Given the description of an element on the screen output the (x, y) to click on. 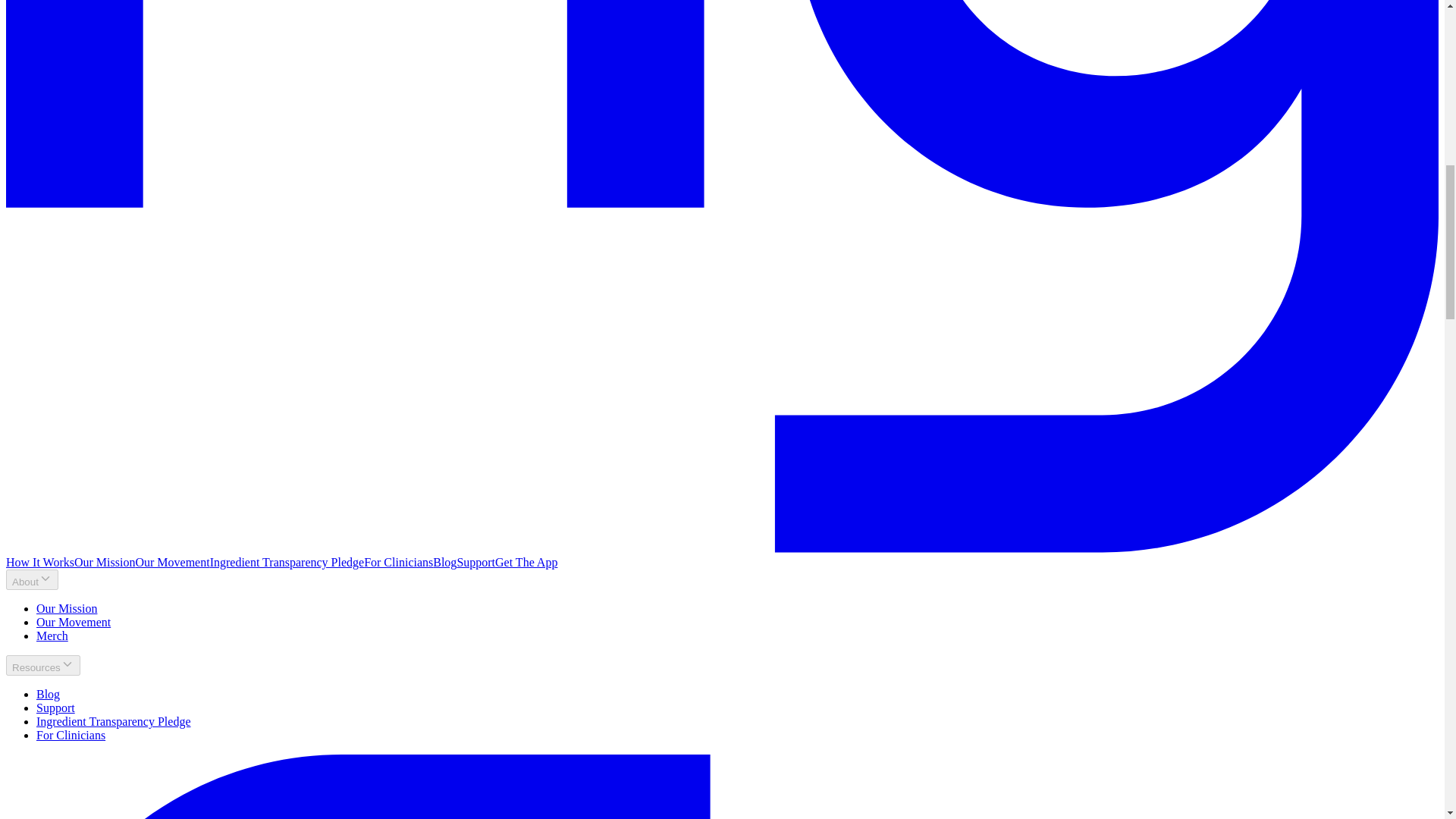
Merch (52, 635)
Support (55, 707)
Ingredient Transparency Pledge (113, 721)
For Clinicians (398, 562)
Our Movement (73, 621)
Ingredient Transparency Pledge (287, 562)
For Clinicians (70, 735)
About (31, 579)
About (31, 579)
Blog (47, 694)
Our Movement (73, 621)
Our Mission (66, 608)
Support (476, 562)
Get The App (526, 562)
Our Movement (172, 562)
